Given the description of an element on the screen output the (x, y) to click on. 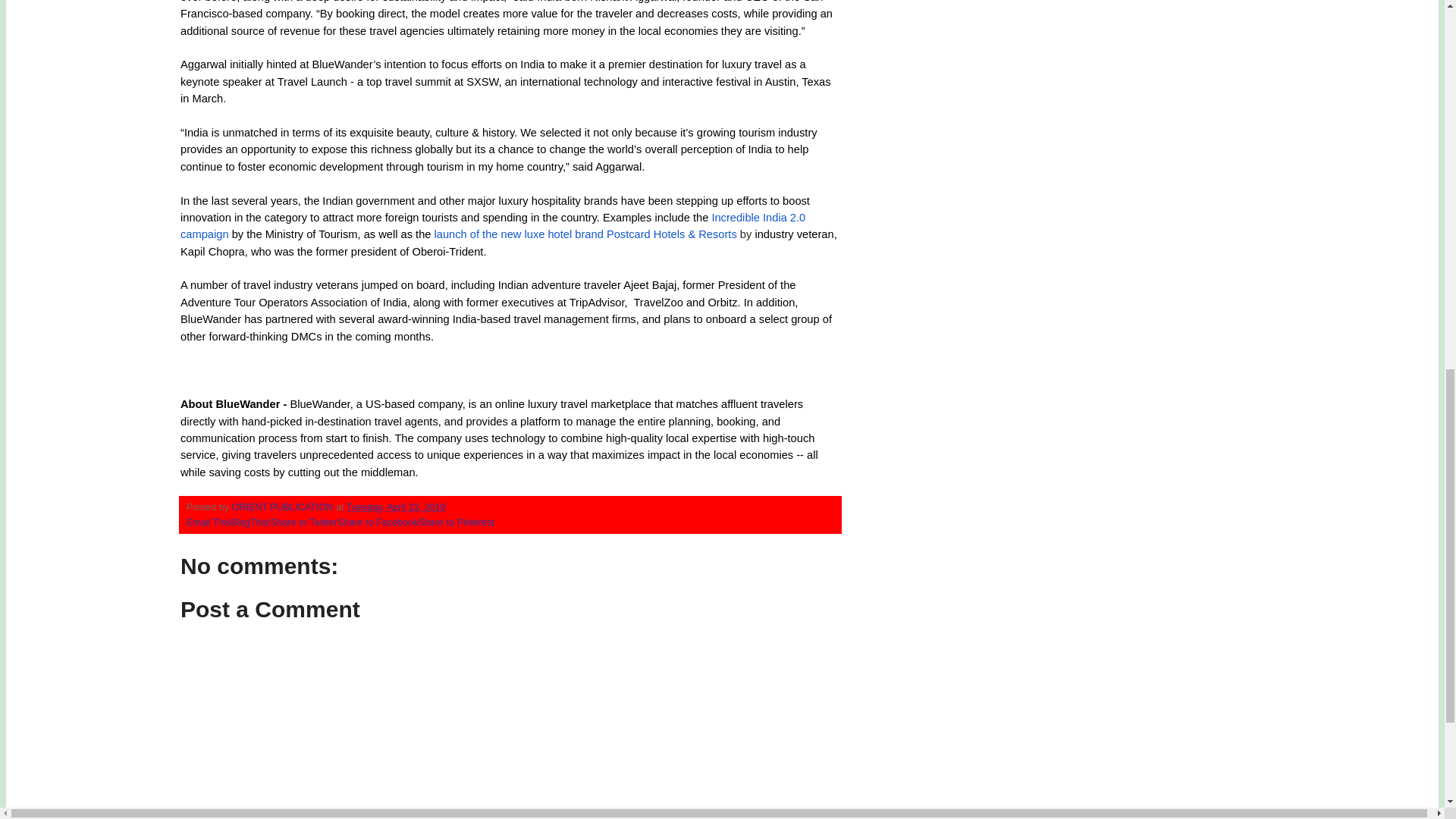
author profile (283, 507)
BlogThis! (250, 521)
BlogThis! (250, 521)
Tuesday, April 23, 2019 (395, 507)
Share to Pinterest (456, 521)
Email This (208, 521)
Share to Twitter (303, 521)
permanent link (395, 507)
Share to Facebook (377, 521)
Share to Facebook (377, 521)
Share to Twitter (303, 521)
ORIENT PUBLICATION (283, 507)
Email This (208, 521)
Incredible India 2.0 campaign (492, 225)
Share to Pinterest (456, 521)
